Given the description of an element on the screen output the (x, y) to click on. 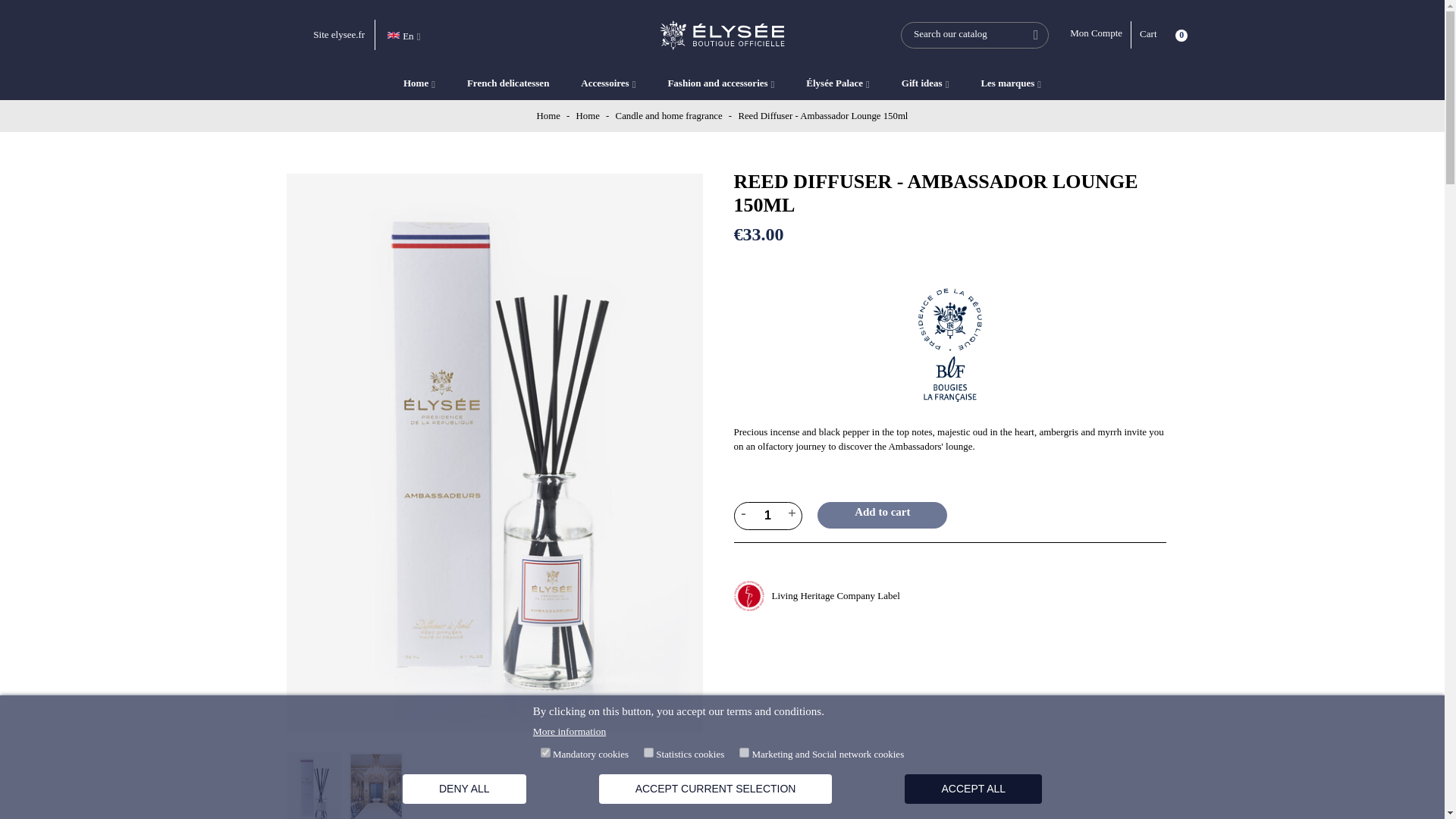
Candle and home fragrance (670, 115)
on (744, 752)
Home (549, 115)
1 (768, 515)
Accessoires (608, 83)
Fashion and accessories (720, 83)
French delicatessen (507, 83)
Log in to your customer account (1100, 34)
Gift ideas (924, 83)
on (648, 752)
